Given the description of an element on the screen output the (x, y) to click on. 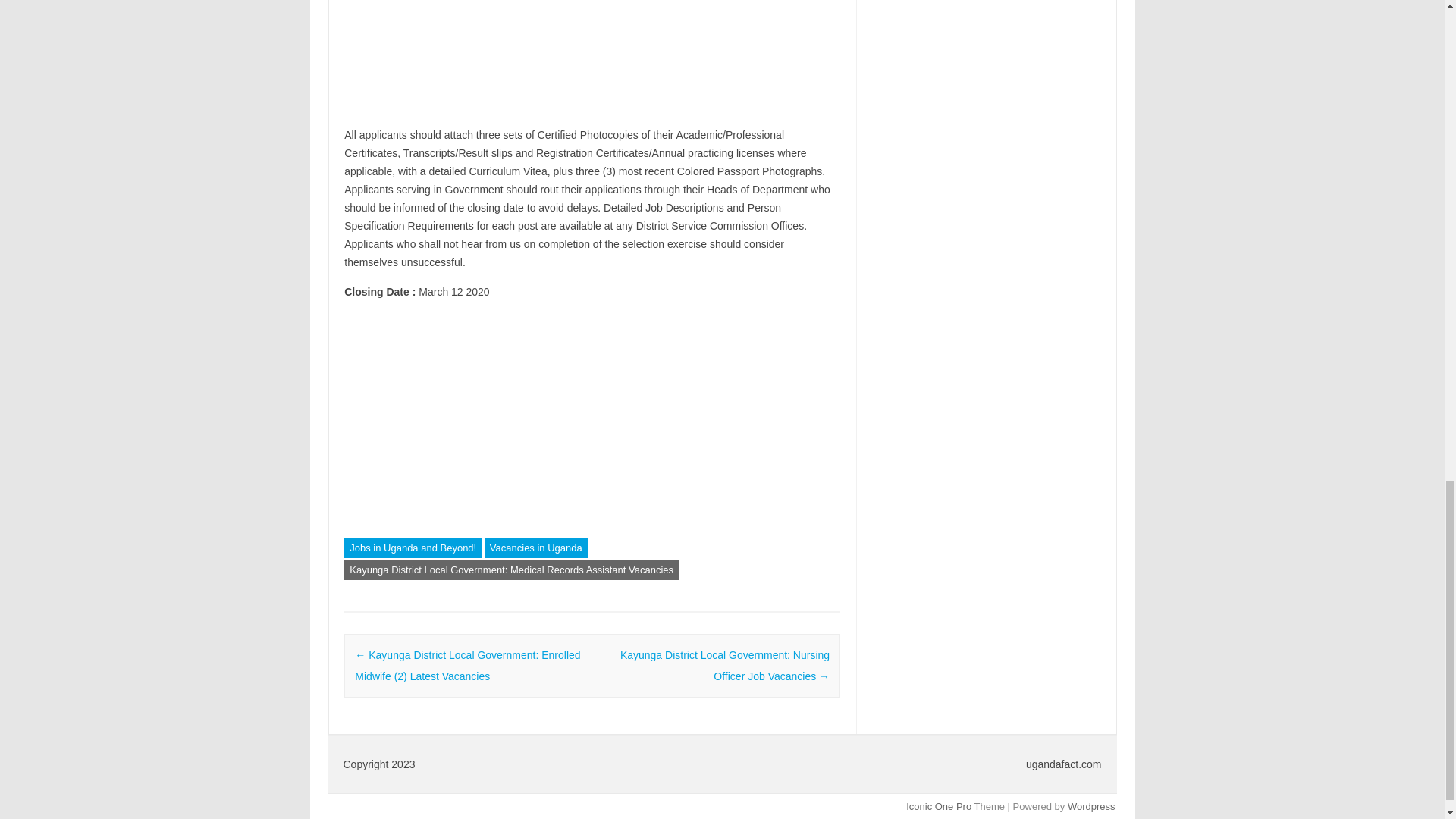
Iconic One Pro (938, 806)
Jobs in Uganda and Beyond! (412, 547)
Wordpress (1091, 806)
Vacancies in Uganda (536, 547)
